Given the description of an element on the screen output the (x, y) to click on. 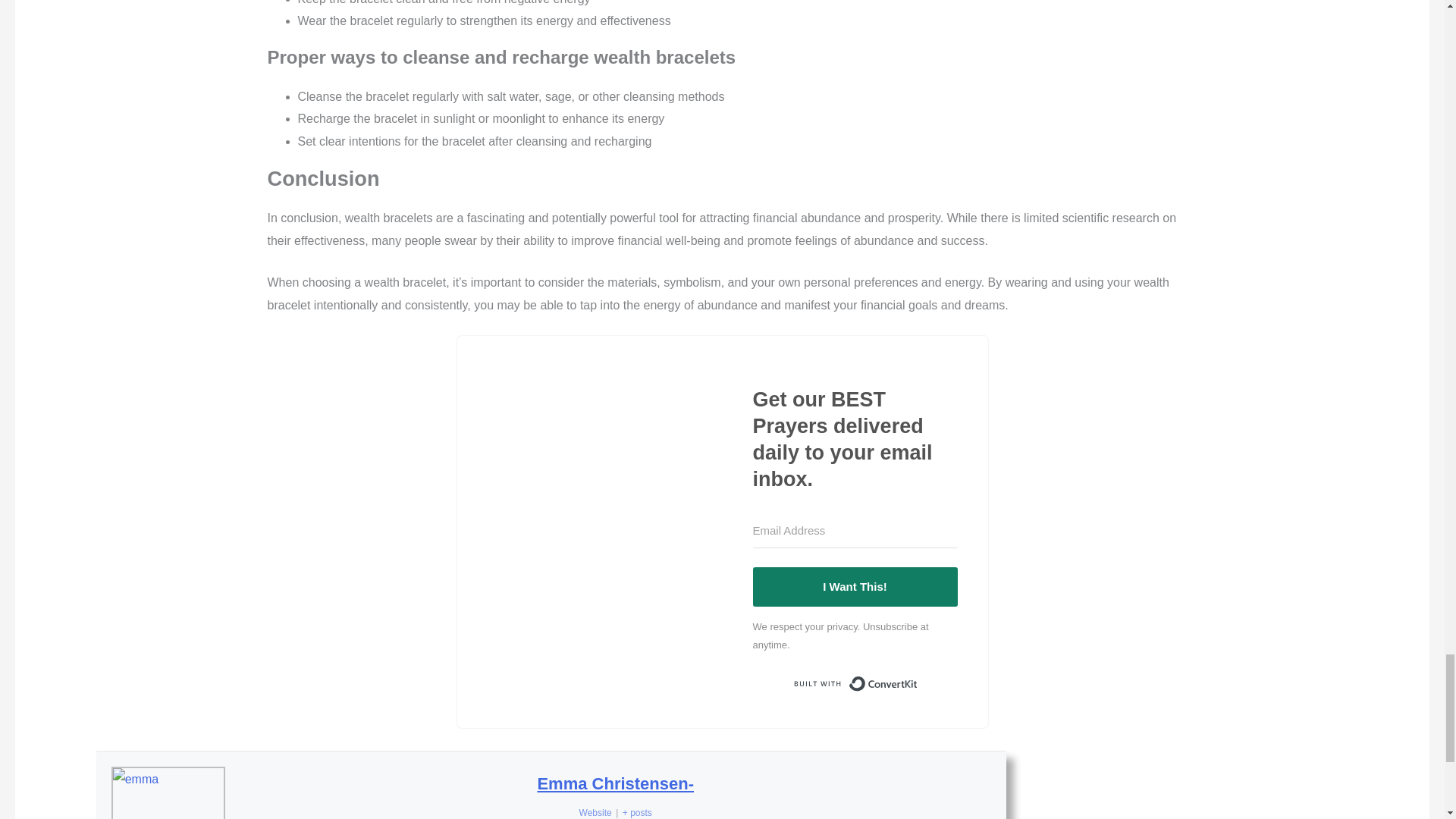
Website (595, 812)
Built with ConvertKit (854, 683)
I Want This! (854, 586)
Emma Christensen- (615, 783)
